Given the description of an element on the screen output the (x, y) to click on. 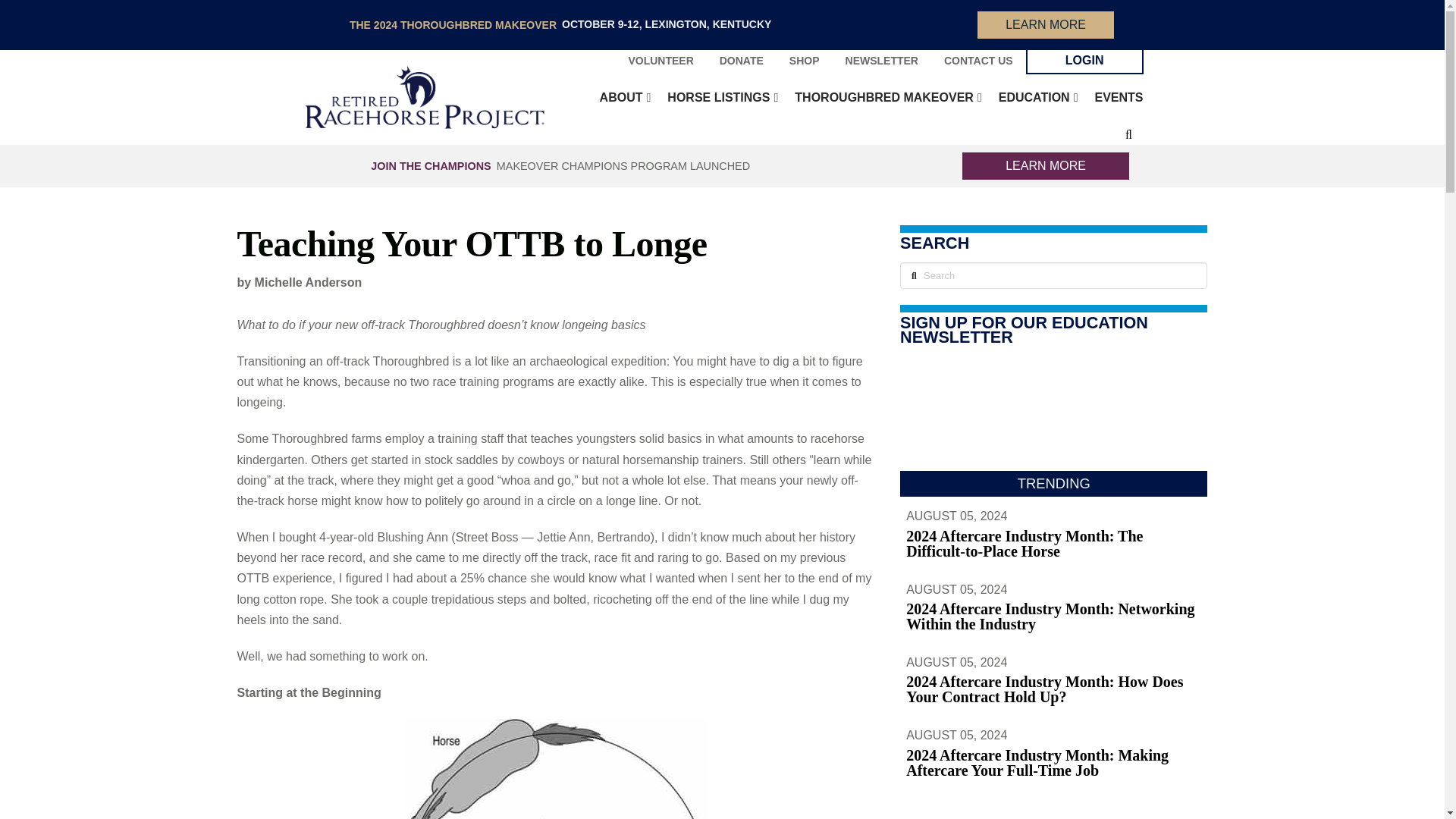
HORSE LISTINGS (717, 97)
DONATE (741, 60)
NEWSLETTER (881, 60)
Form 0 (1053, 413)
SHOP (804, 60)
LOGIN (1084, 60)
CONTACT US (978, 60)
THOROUGHBRED MAKEOVER (883, 97)
VOLUNTEER (660, 60)
LEARN MORE (1044, 24)
